Given the description of an element on the screen output the (x, y) to click on. 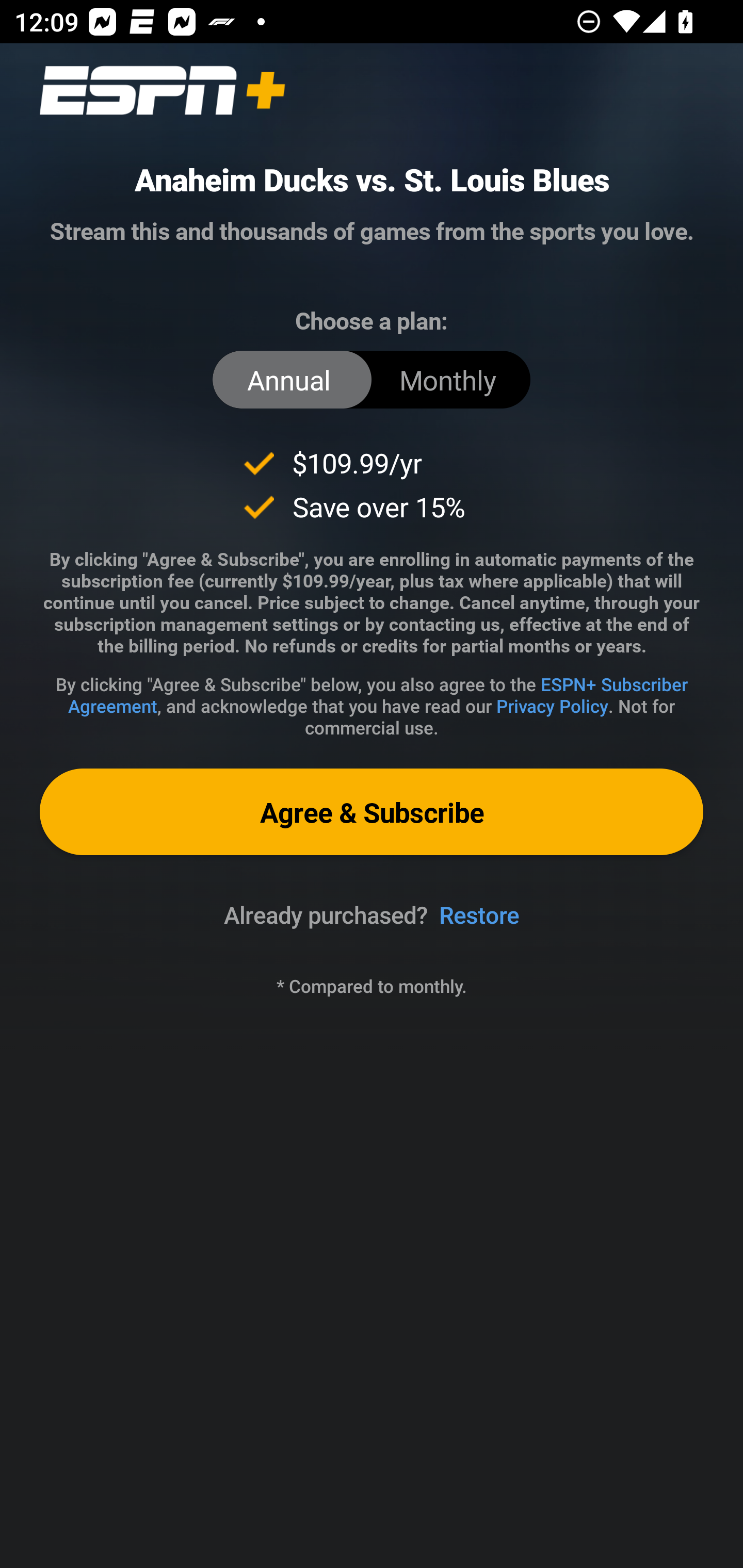
Agree & Subscribe (371, 811)
